Given the description of an element on the screen output the (x, y) to click on. 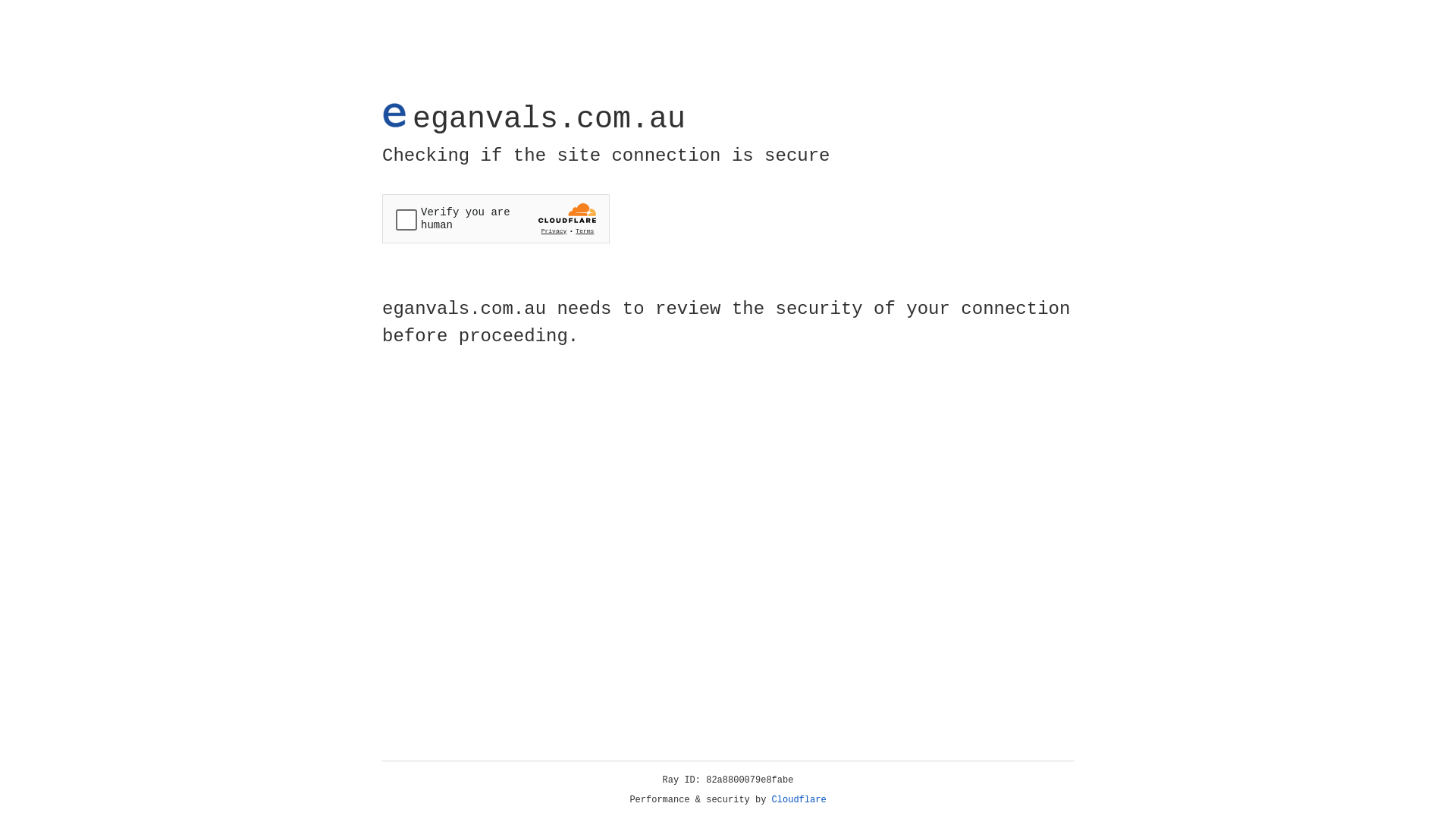
Cloudflare Element type: text (798, 799)
Widget containing a Cloudflare security challenge Element type: hover (495, 218)
